Given the description of an element on the screen output the (x, y) to click on. 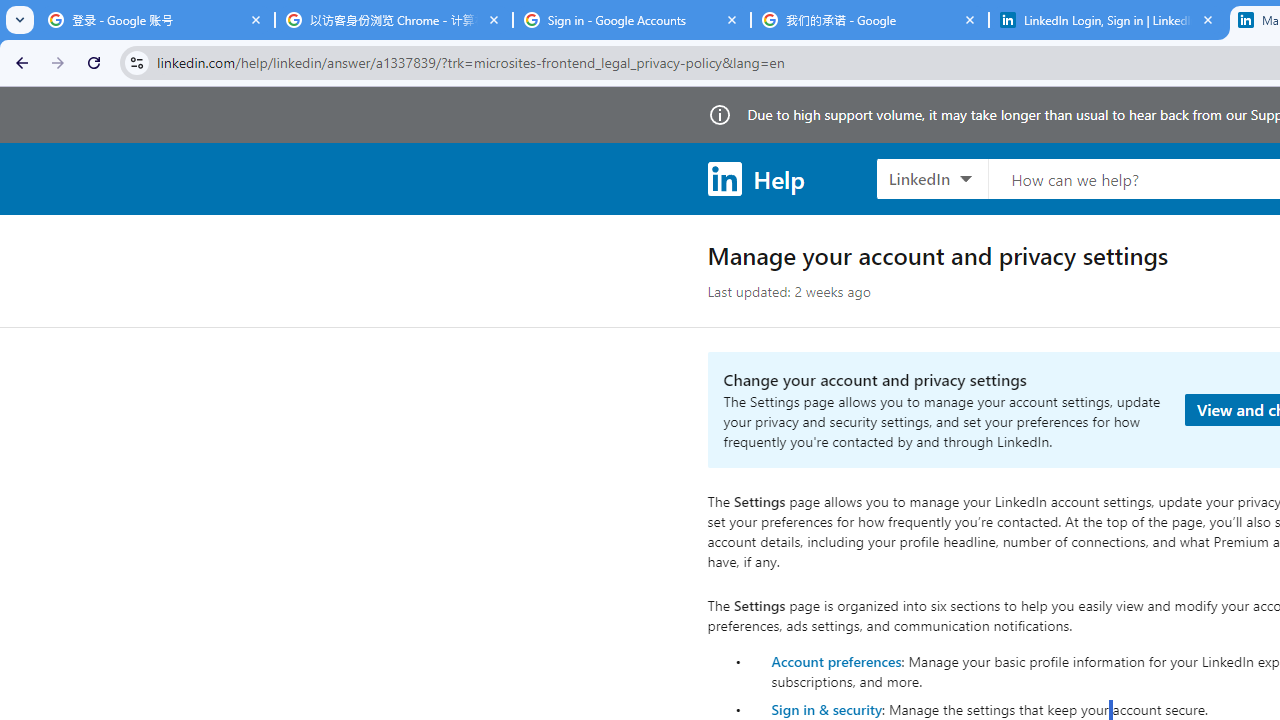
LinkedIn Login, Sign in | LinkedIn (1108, 20)
Sign in & security (826, 709)
Sign in - Google Accounts (632, 20)
LinkedIn products to search, LinkedIn selected (932, 178)
